Given the description of an element on the screen output the (x, y) to click on. 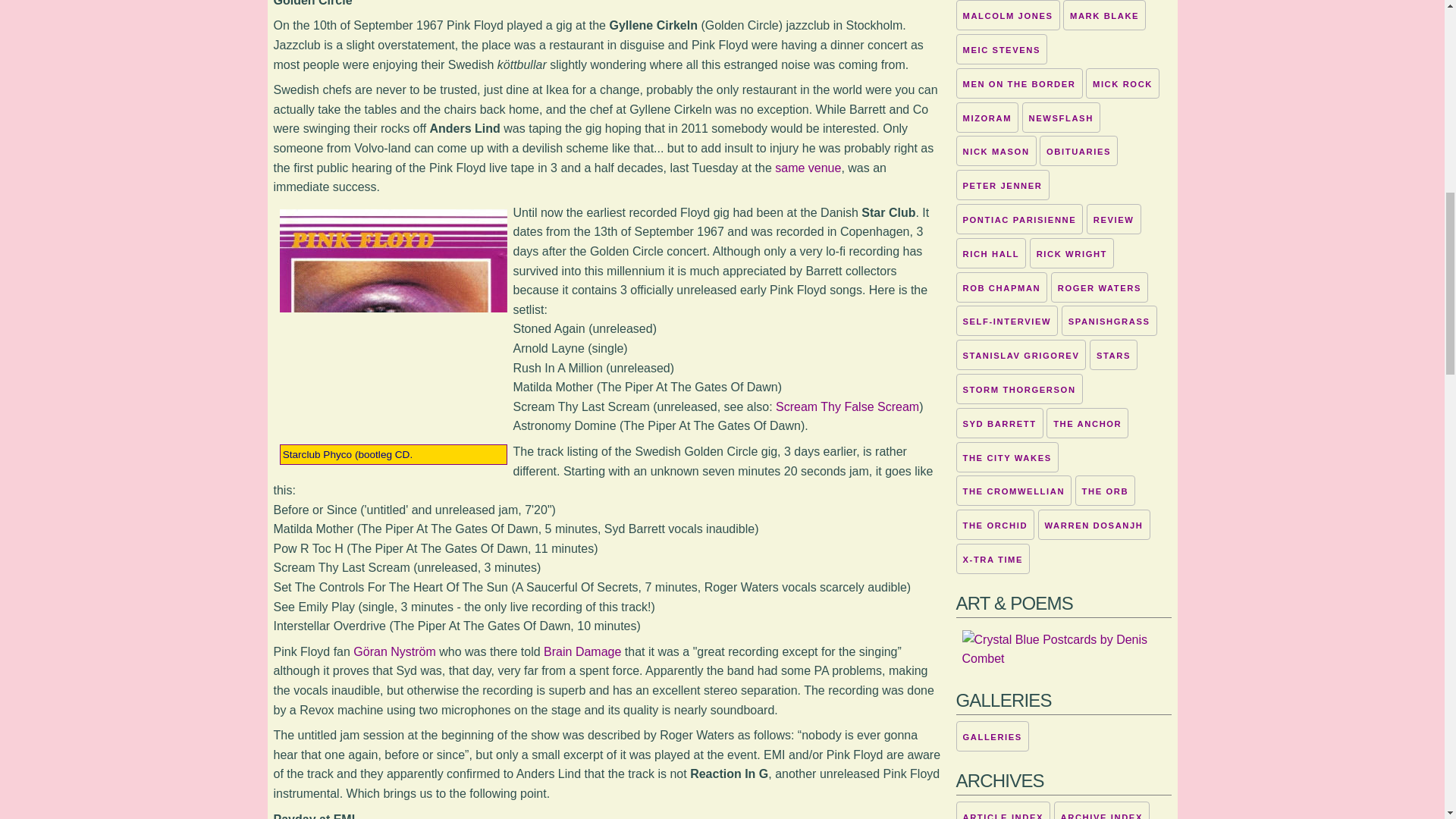
rare-1967-pink-floyd-recording-airs-in-stockholm (582, 651)
The Pink Floyd Happening (807, 167)
same venue (807, 167)
Scream Thy False Scream (847, 406)
Floyd International Blog (394, 651)
Brain Damage (582, 651)
